Given the description of an element on the screen output the (x, y) to click on. 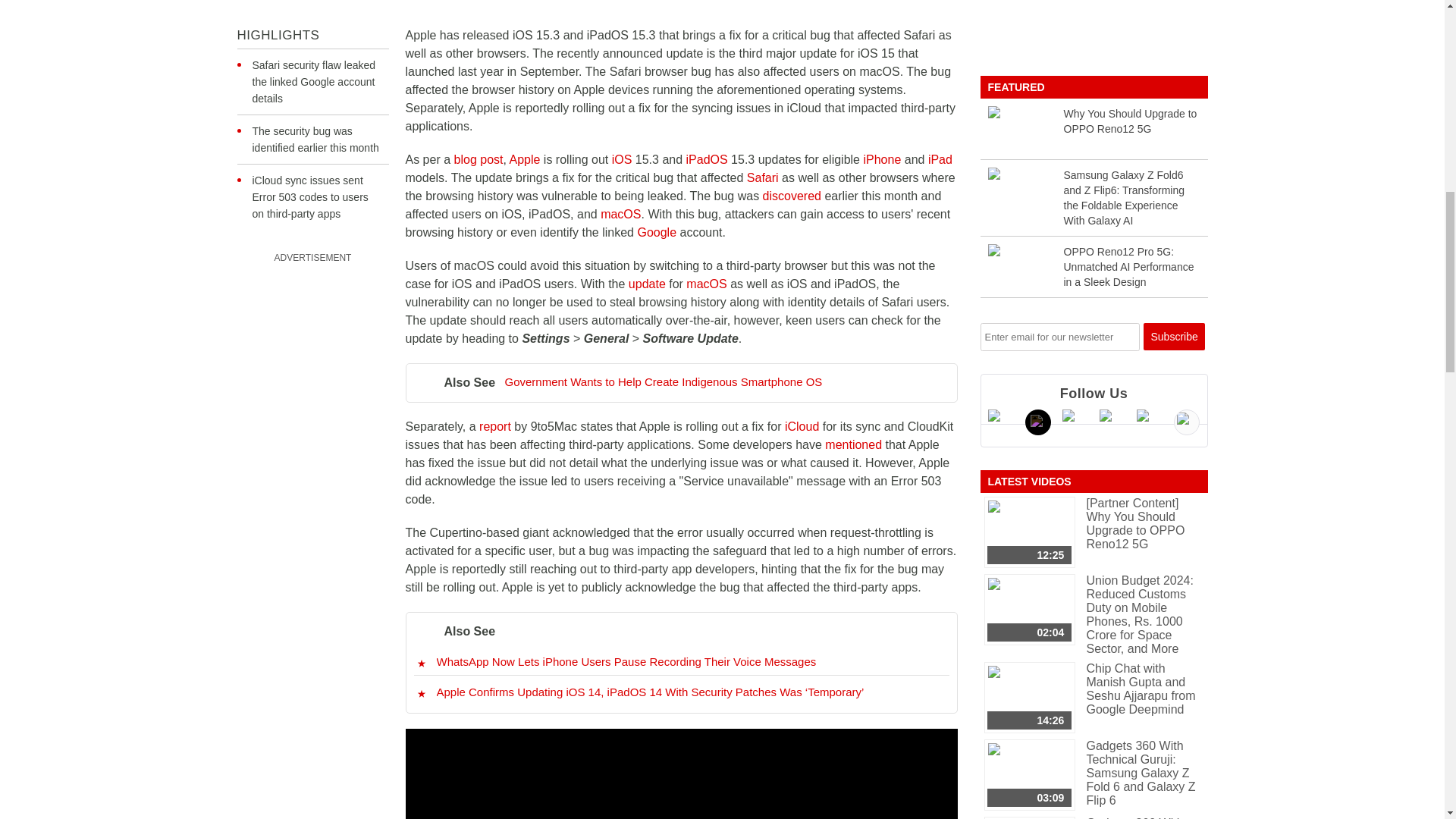
Subscribe (1173, 336)
